Given the description of an element on the screen output the (x, y) to click on. 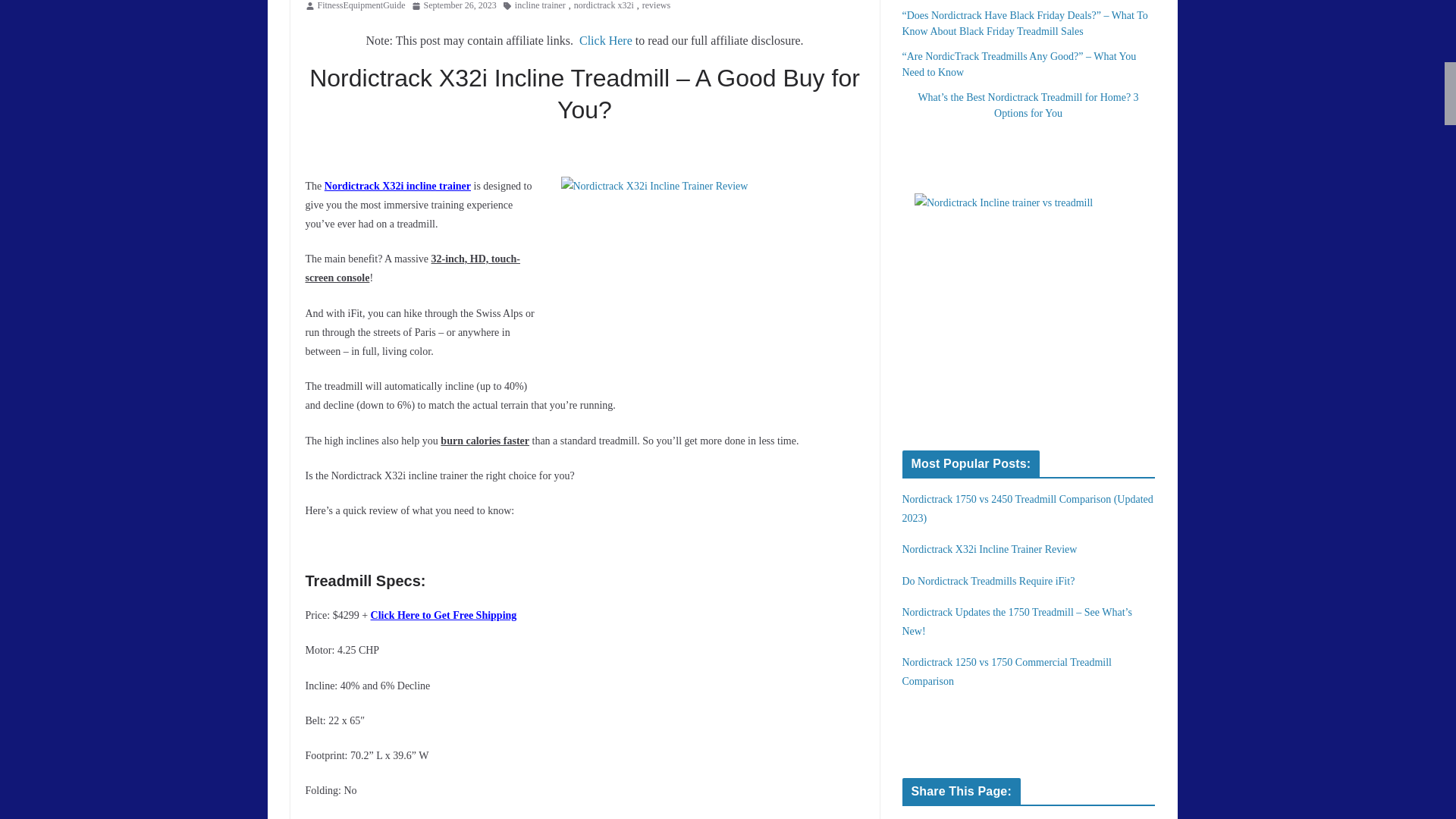
Click Here (605, 39)
FitnessEquipmentGuide (360, 7)
reviews (655, 7)
nordictrack x32i (603, 7)
Nordictrack X32i incline trainer (397, 185)
incline trainer (540, 7)
FitnessEquipmentGuide (360, 7)
Click Here to Get Free Shipping (443, 614)
September 26, 2023 (453, 7)
9:40 am (453, 7)
